Given the description of an element on the screen output the (x, y) to click on. 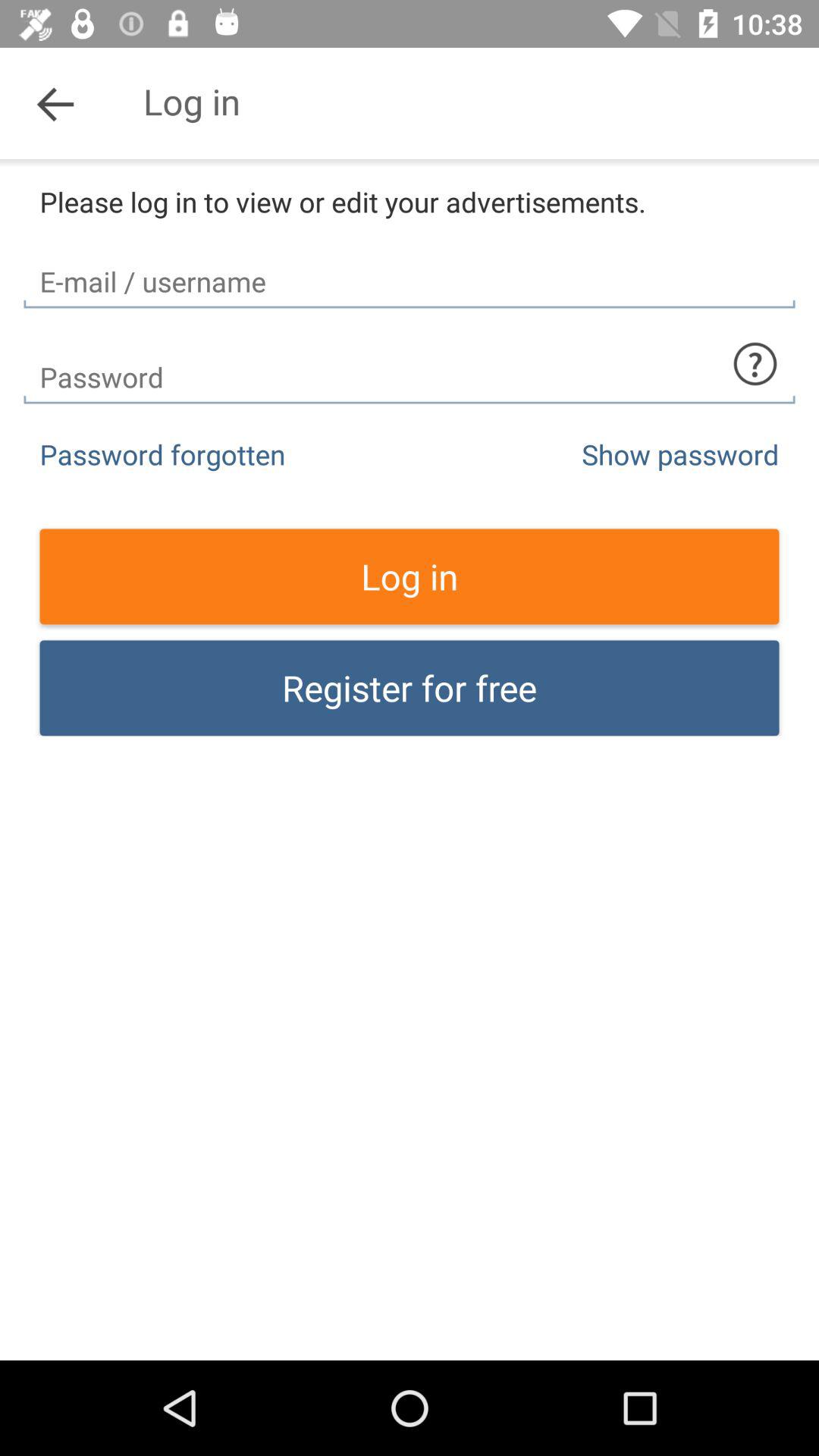
open the item to the left of the log in (55, 103)
